Given the description of an element on the screen output the (x, y) to click on. 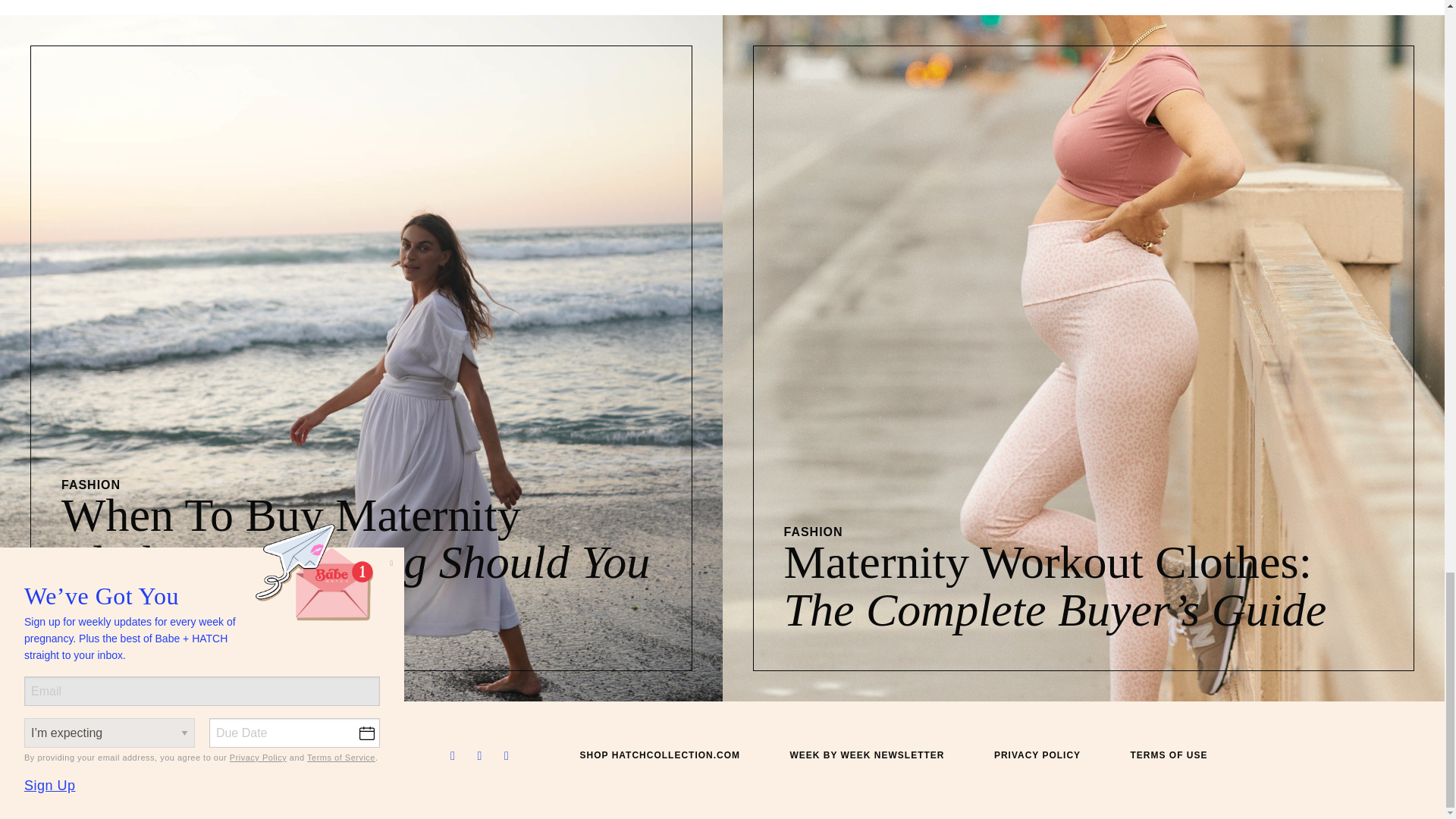
Home Page (316, 760)
